Given the description of an element on the screen output the (x, y) to click on. 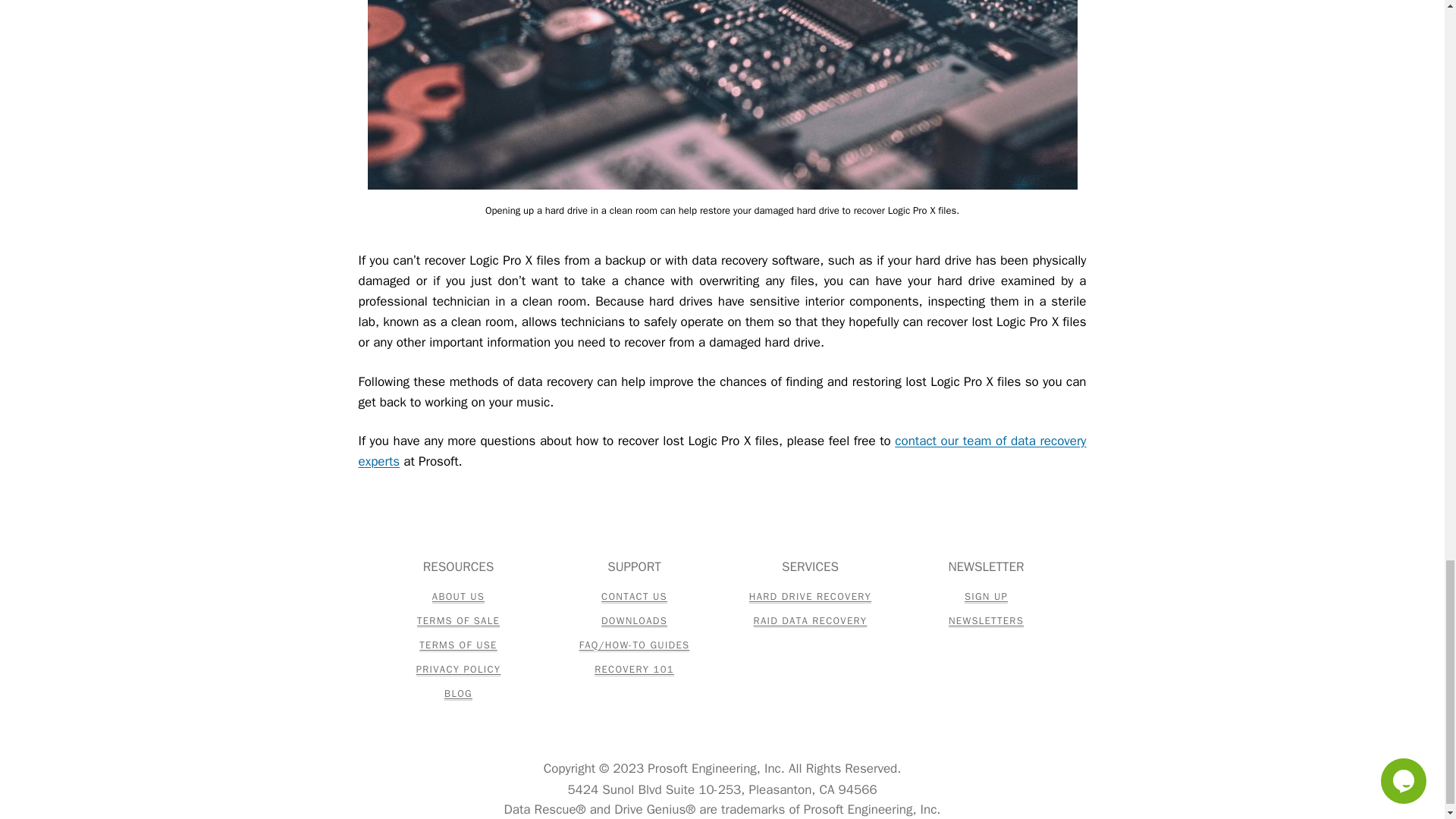
HARD DRIVE RECOVERY (809, 596)
SIGN UP (985, 596)
RECOVERY 101 (634, 669)
NEWSLETTERS (986, 621)
TERMS OF SALE (457, 621)
CONTACT US (633, 596)
contact our team of data recovery experts (722, 451)
RAID DATA RECOVERY (810, 621)
BLOG (457, 694)
PRIVACY POLICY (458, 669)
